Given the description of an element on the screen output the (x, y) to click on. 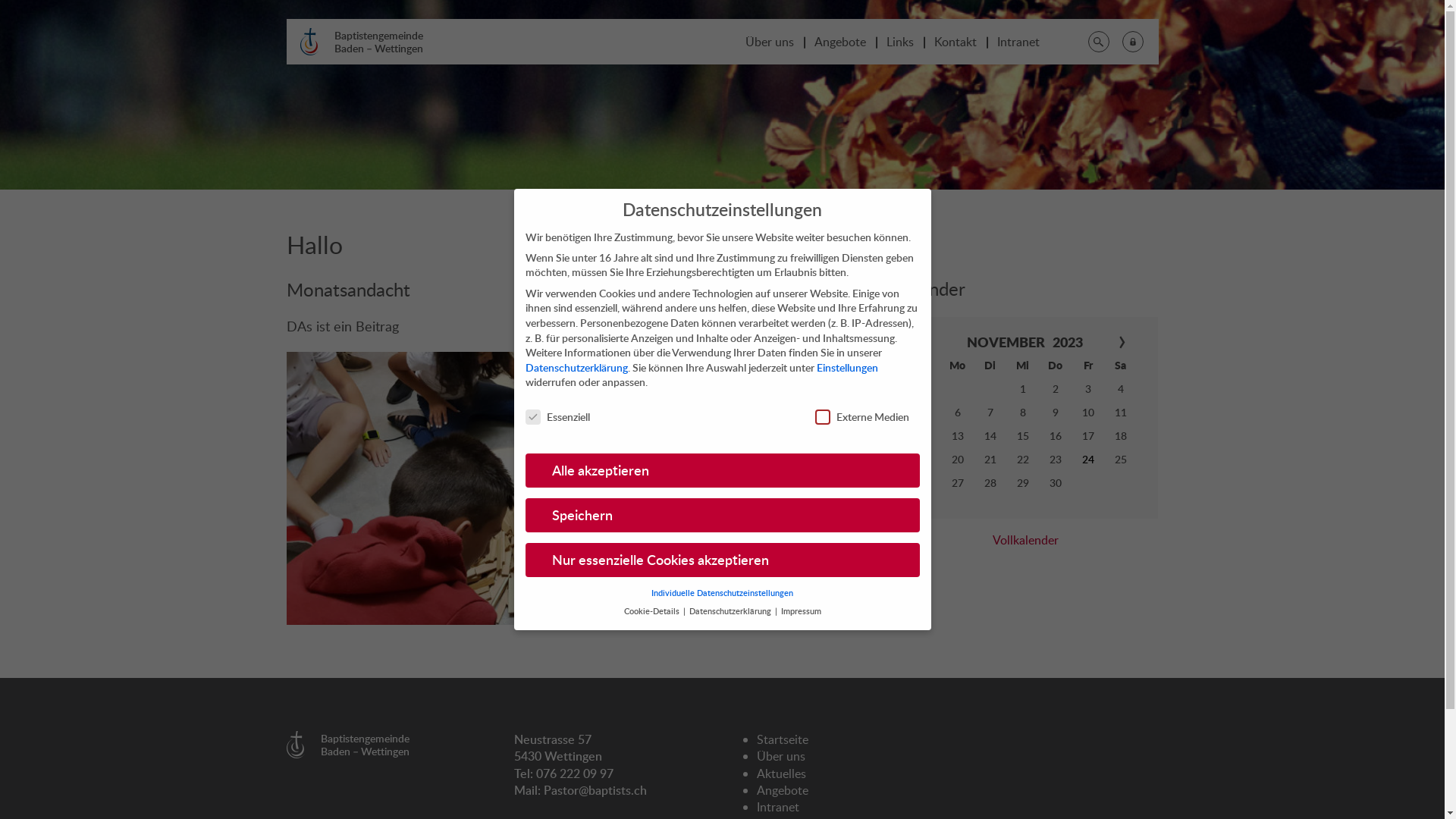
Individuelle Datenschutzeinstellungen Element type: text (722, 592)
Intranet Element type: text (777, 806)
Intranet Element type: text (1017, 41)
Vollkalender Element type: text (1025, 539)
Impressum Element type: text (801, 610)
Angebote Element type: text (782, 789)
Angebote Element type: text (840, 41)
Alle akzeptieren Element type: text (721, 470)
Aktuelles Element type: text (781, 773)
Nur essenzielle Cookies akzeptieren Element type: text (721, 559)
Startseite Element type: text (782, 739)
Links Element type: text (899, 41)
Cookie-Details Element type: text (651, 610)
Speichern Element type: text (721, 515)
Einstellungen Element type: text (846, 367)
Kontakt Element type: text (955, 41)
